Given the description of an element on the screen output the (x, y) to click on. 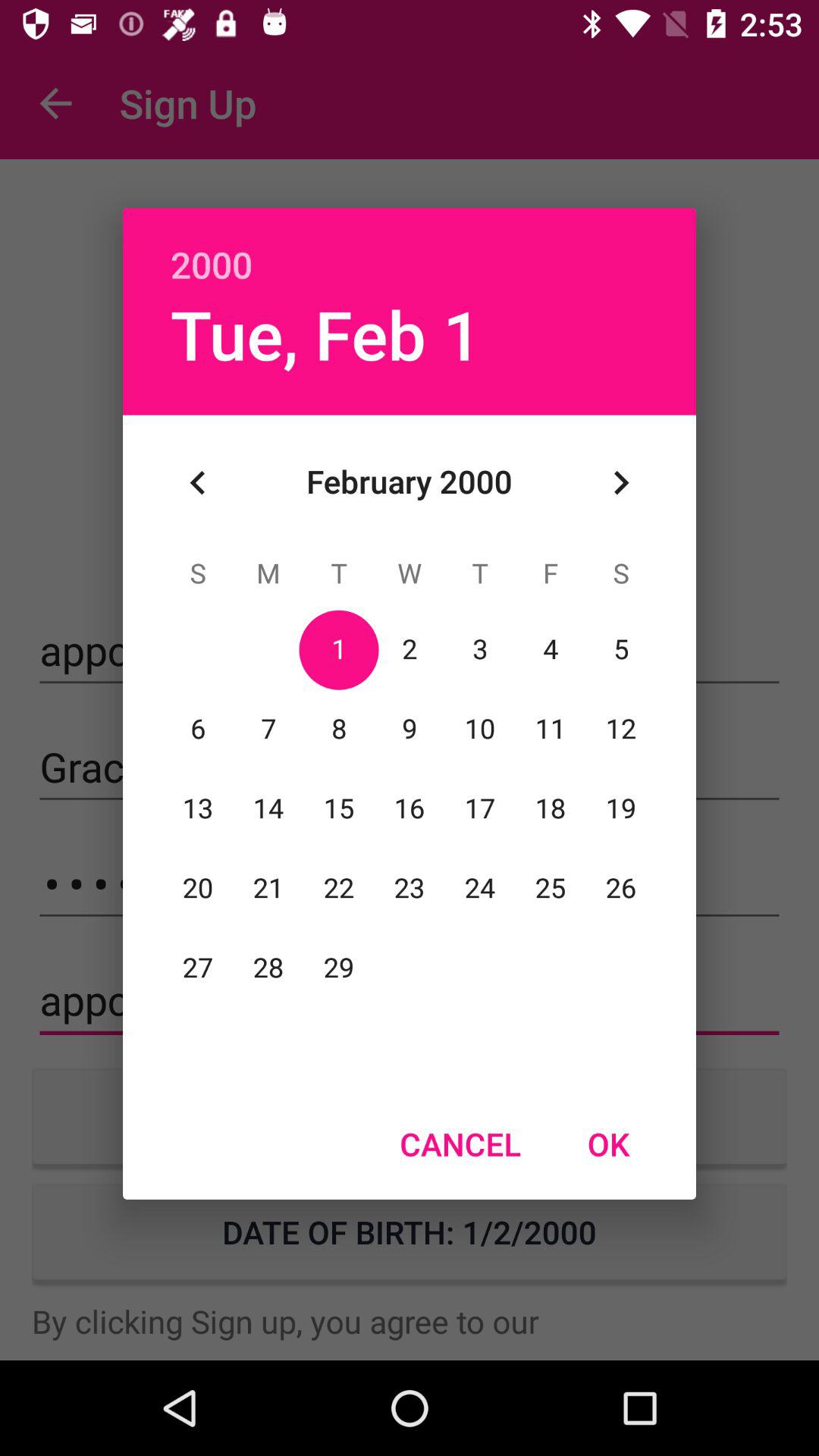
launch item next to cancel item (608, 1143)
